Given the description of an element on the screen output the (x, y) to click on. 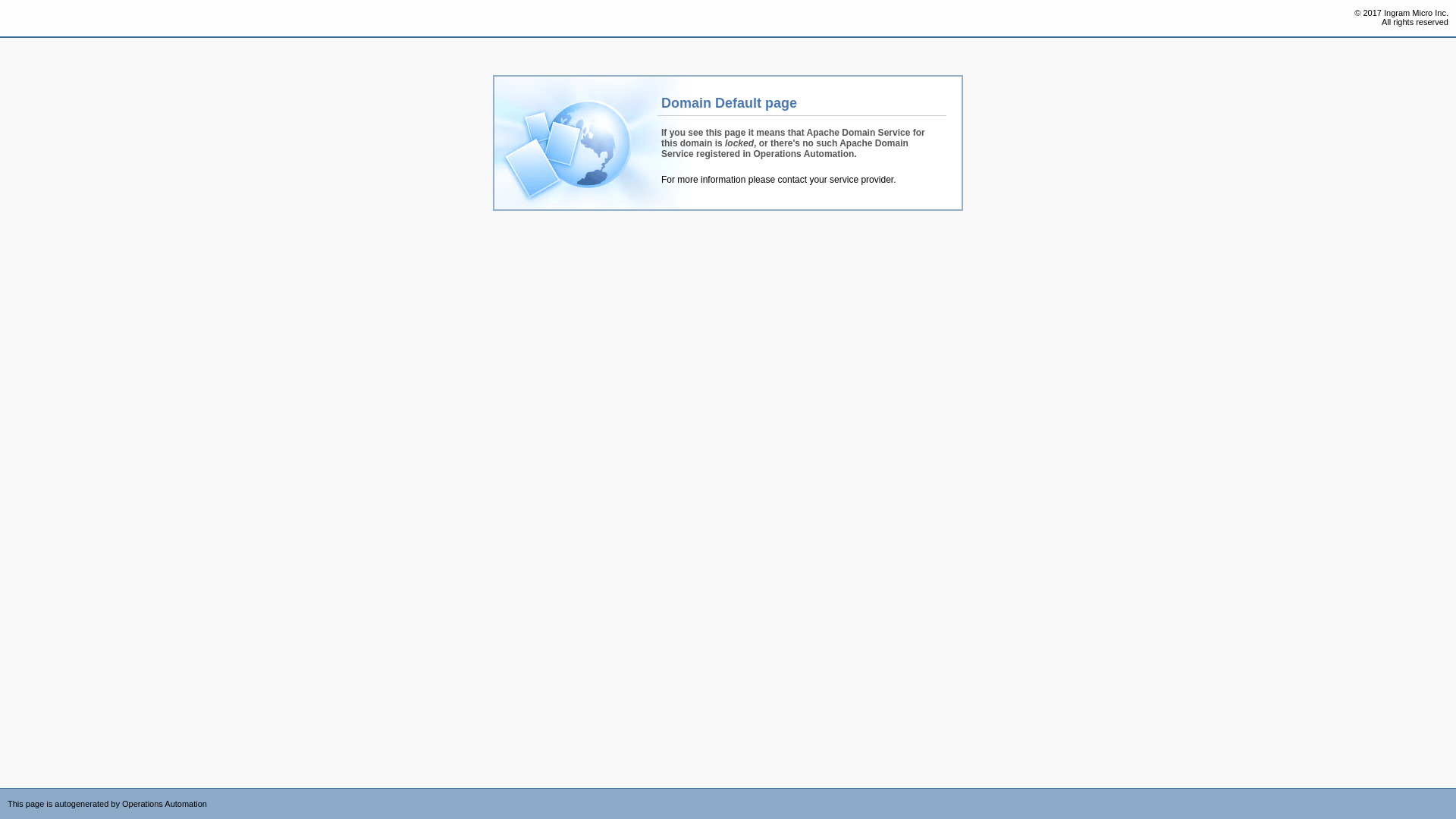
Powered by CloudBlue Commerce Element type: hover (1447, 792)
Operations Automation Element type: text (39, 18)
